Given the description of an element on the screen output the (x, y) to click on. 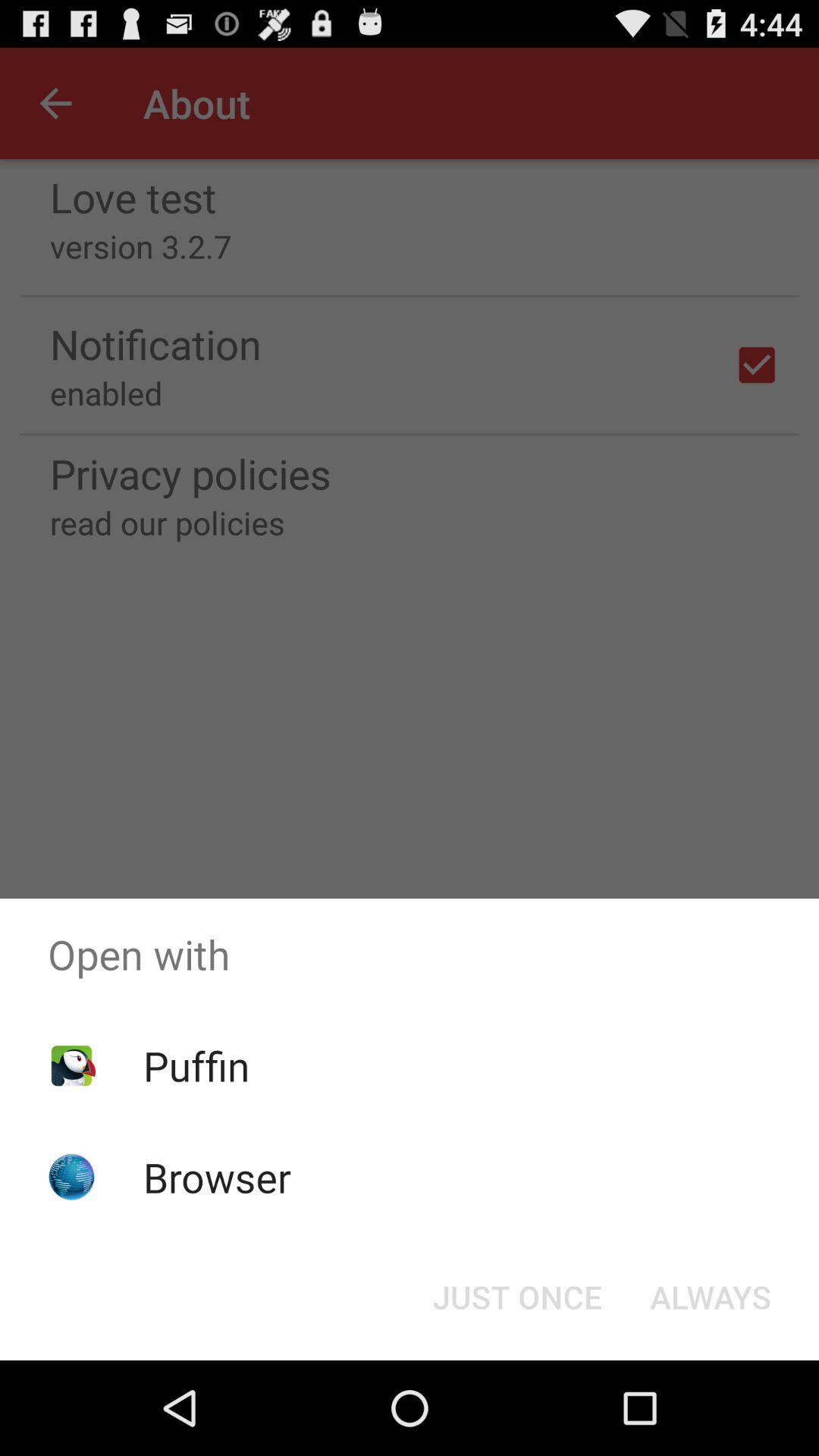
select icon at the bottom (517, 1296)
